Given the description of an element on the screen output the (x, y) to click on. 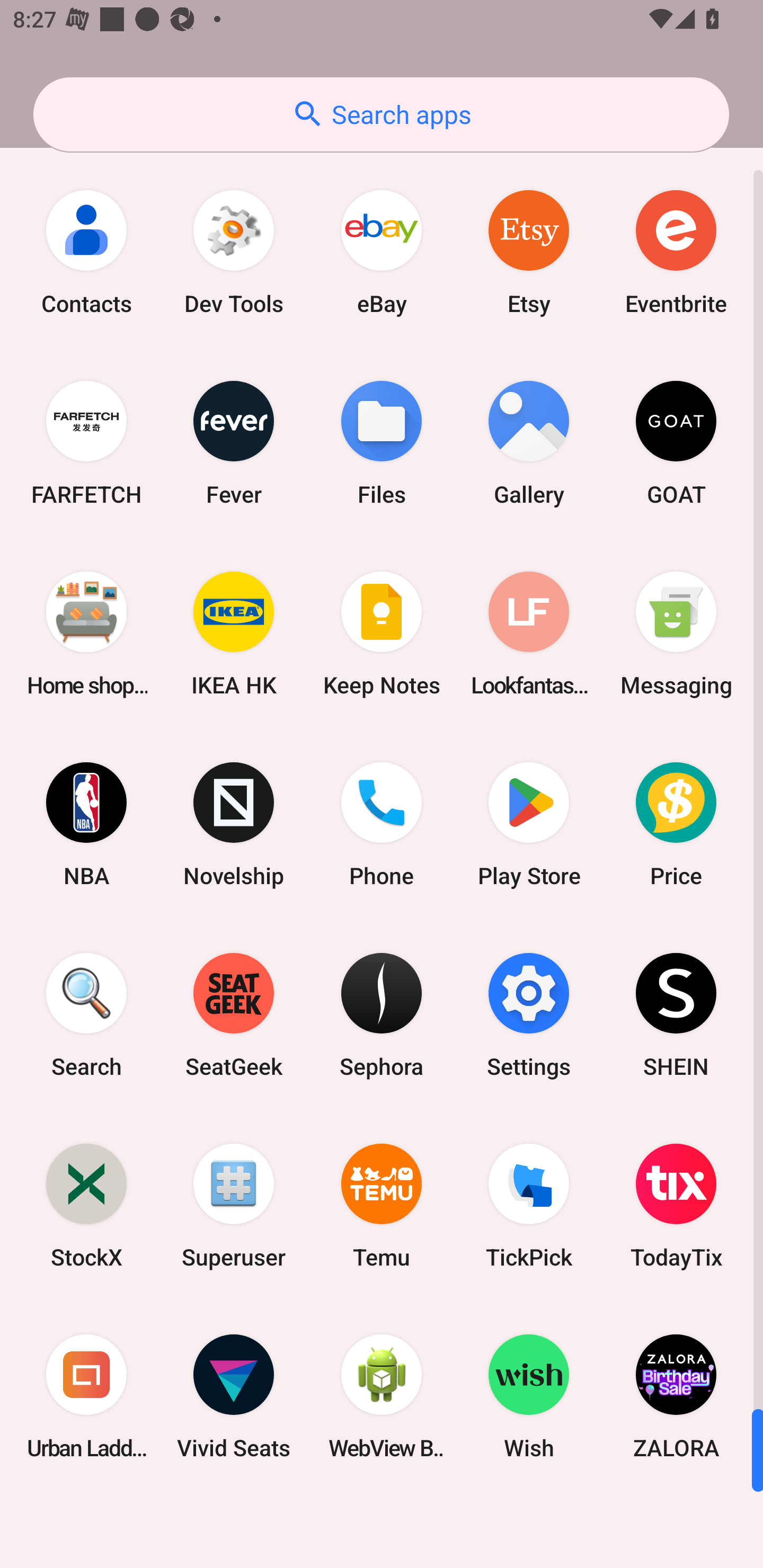
  Search apps (381, 114)
Contacts (86, 252)
Dev Tools (233, 252)
eBay (381, 252)
Etsy (528, 252)
Eventbrite (676, 252)
FARFETCH (86, 442)
Fever (233, 442)
Files (381, 442)
Gallery (528, 442)
GOAT (676, 442)
Home shopping (86, 633)
IKEA HK (233, 633)
Keep Notes (381, 633)
Lookfantastic (528, 633)
Messaging (676, 633)
NBA (86, 823)
Novelship (233, 823)
Phone (381, 823)
Play Store (528, 823)
Price (676, 823)
Search (86, 1014)
SeatGeek (233, 1014)
Sephora (381, 1014)
Settings (528, 1014)
SHEIN (676, 1014)
StockX (86, 1205)
Superuser (233, 1205)
Temu (381, 1205)
TickPick (528, 1205)
TodayTix (676, 1205)
Urban Ladder (86, 1396)
Vivid Seats (233, 1396)
WebView Browser Tester (381, 1396)
Wish (528, 1396)
ZALORA (676, 1396)
